Given the description of an element on the screen output the (x, y) to click on. 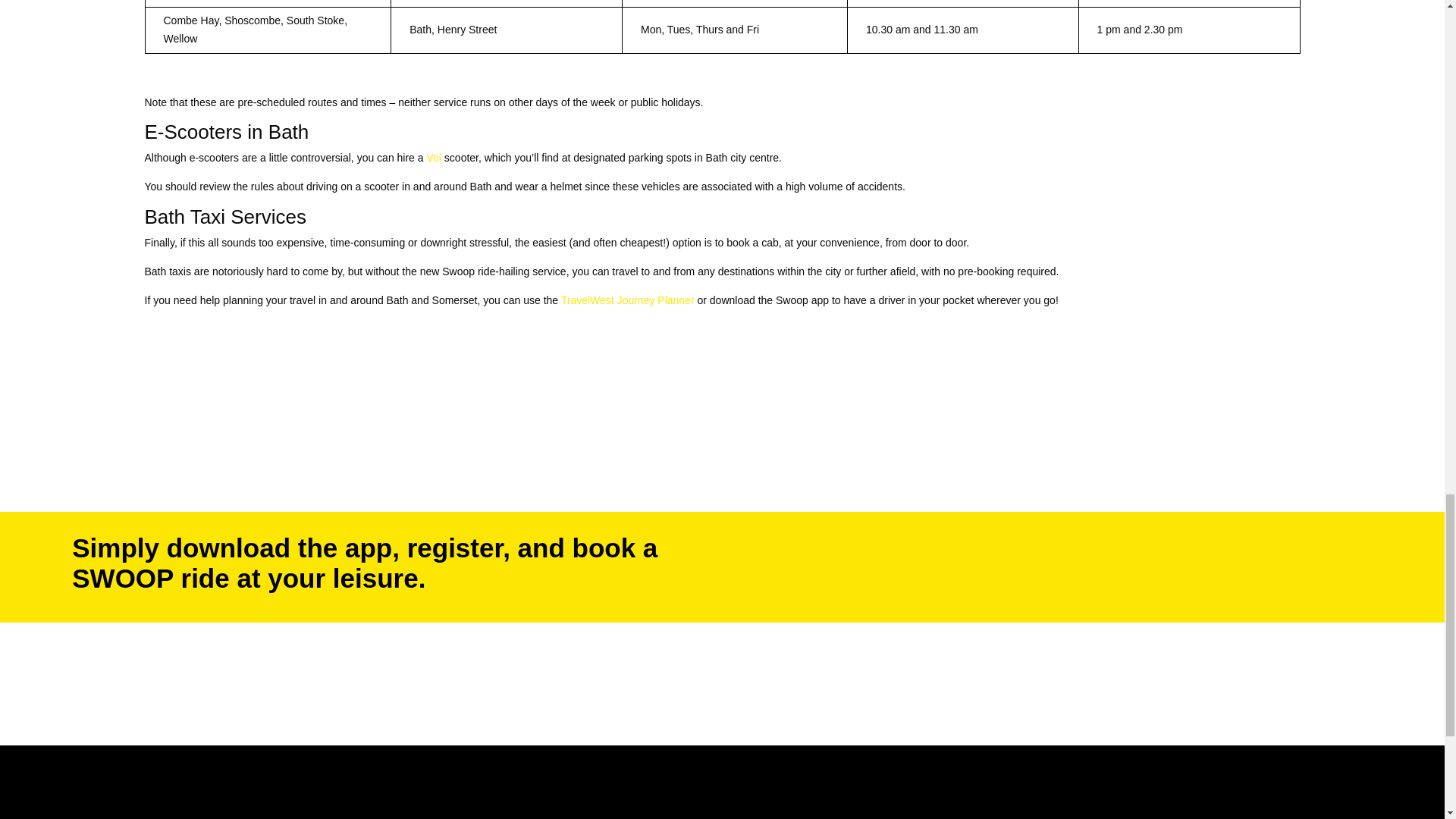
Voi (433, 157)
Download SWOOP Taxis on App Store (893, 588)
Download SWOOP Taxis on Google Play (893, 544)
TravelWest Journey Planner (627, 300)
